Given the description of an element on the screen output the (x, y) to click on. 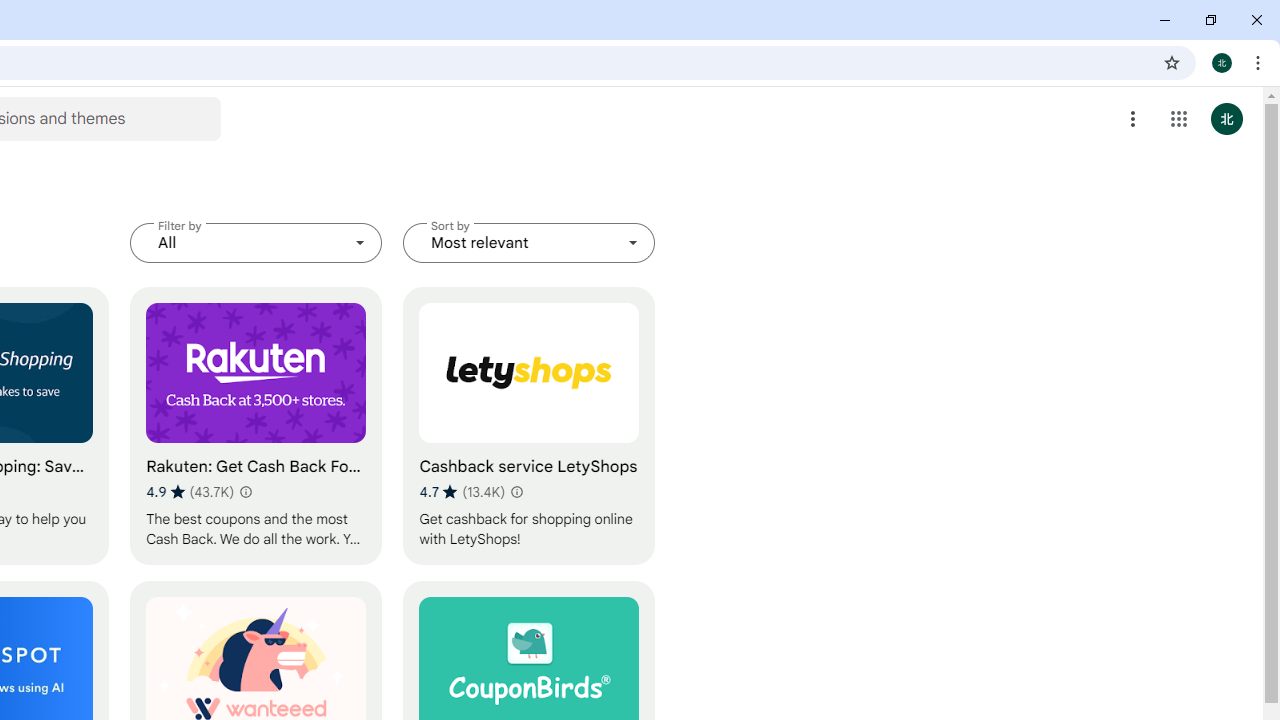
Average rating 4.9 out of 5 stars. 43.7K ratings. (190, 491)
Filter by All (256, 242)
